Given the description of an element on the screen output the (x, y) to click on. 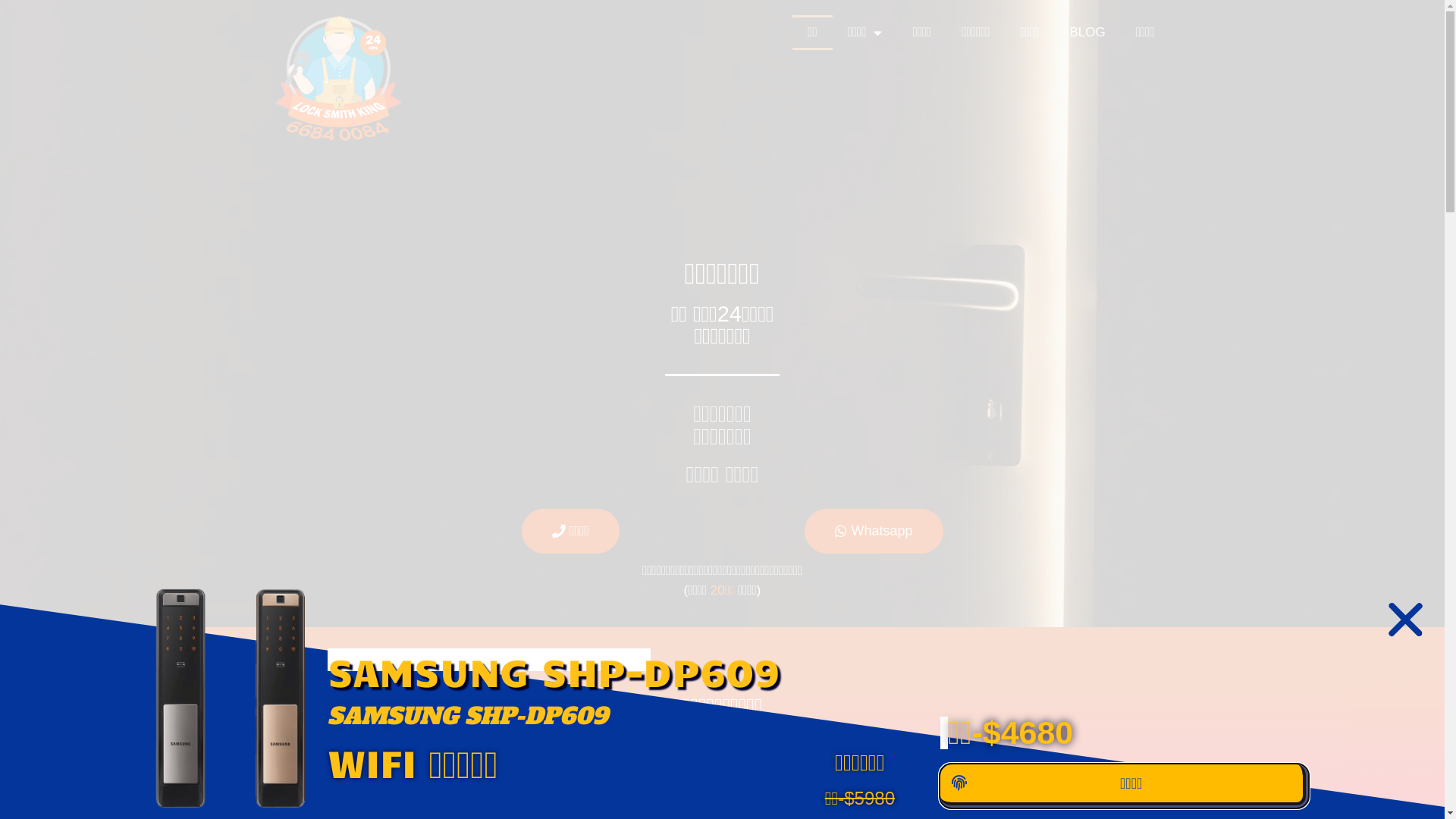
Whatsapp Element type: text (873, 530)
BLOG Element type: text (1087, 32)
